Given the description of an element on the screen output the (x, y) to click on. 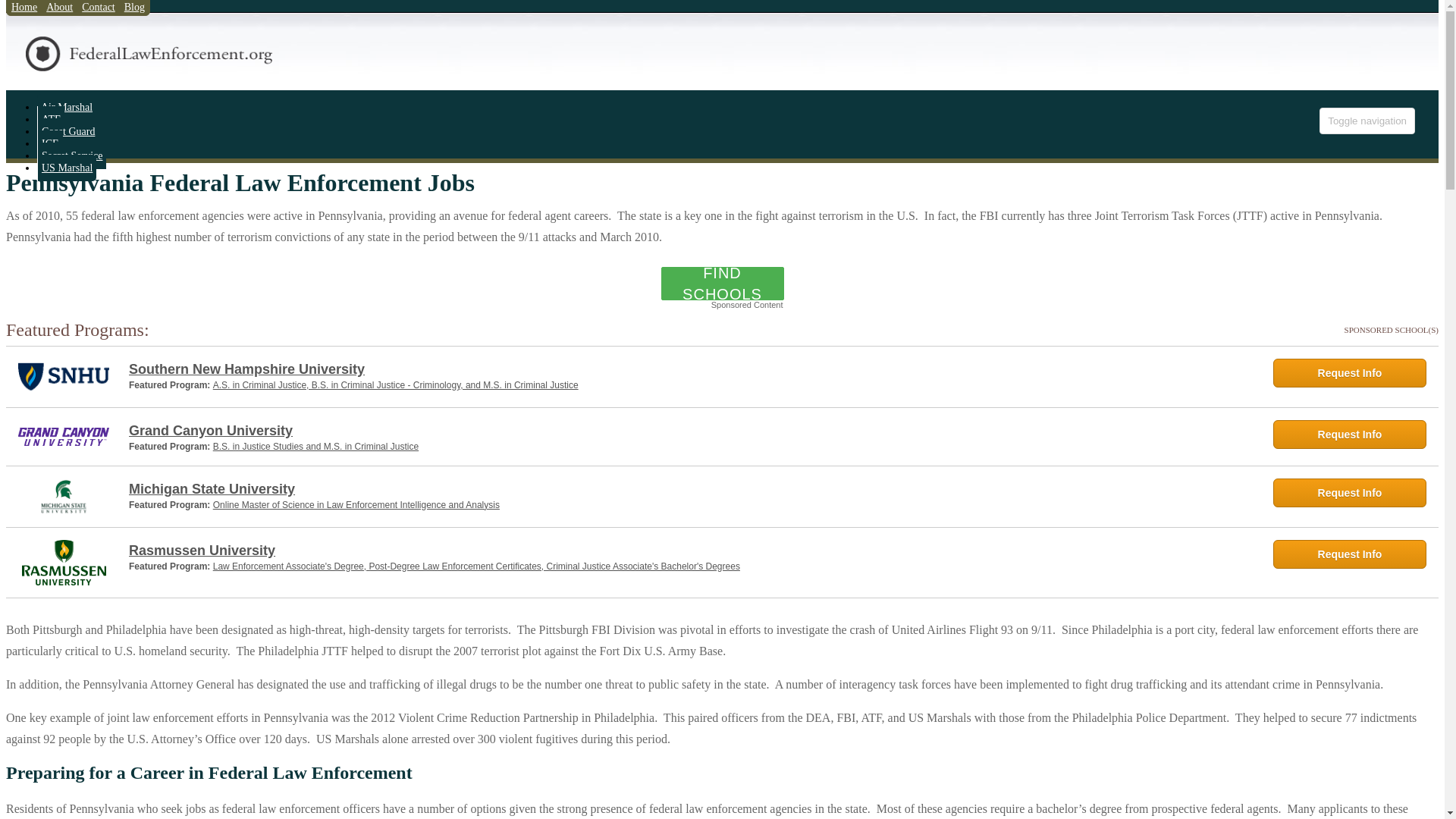
Southern New Hampshire University (691, 369)
ICE (49, 143)
Home (24, 10)
Coast Guard (68, 130)
Contact (98, 10)
Secret Service (71, 155)
Michigan State University (691, 488)
About (59, 10)
Request Info (1349, 492)
Toggle navigation (1367, 120)
Air Marshal (66, 107)
Blog (134, 10)
Air Marshal (66, 107)
